Given the description of an element on the screen output the (x, y) to click on. 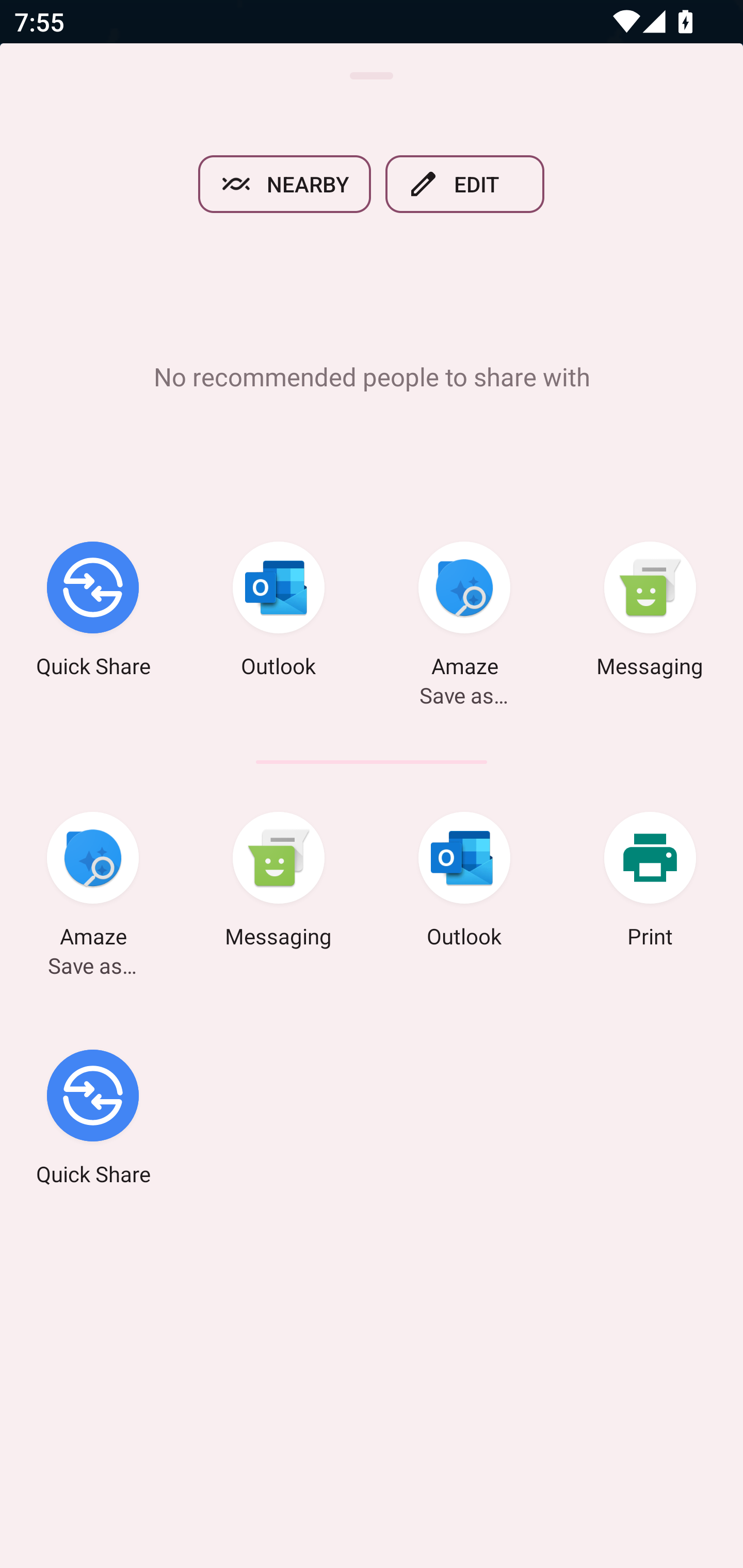
NEARBY (284, 184)
EDIT (464, 184)
Quick Share (92, 611)
Outlook (278, 611)
Amaze Save as… (464, 611)
Messaging (650, 611)
Amaze Save as… (92, 882)
Messaging (278, 882)
Outlook (464, 882)
Print (650, 882)
Quick Share (92, 1119)
